Given the description of an element on the screen output the (x, y) to click on. 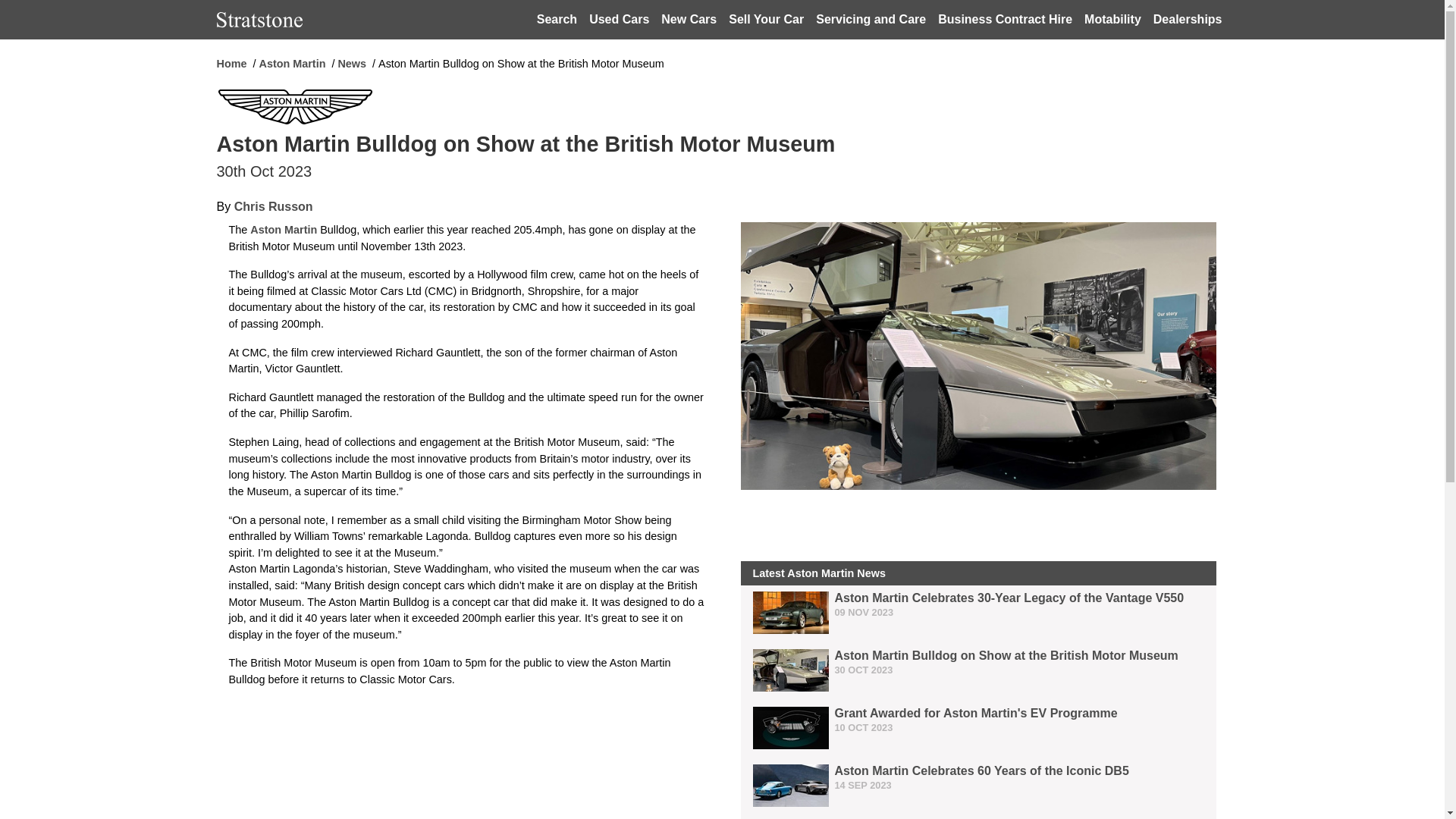
Chris Russon (273, 205)
Aston Martin (283, 229)
News (351, 63)
Motability (1112, 19)
News (351, 63)
New Cars (688, 19)
Aston Martin (291, 63)
Home (231, 63)
Servicing and Care (870, 19)
Search (557, 19)
